Given the description of an element on the screen output the (x, y) to click on. 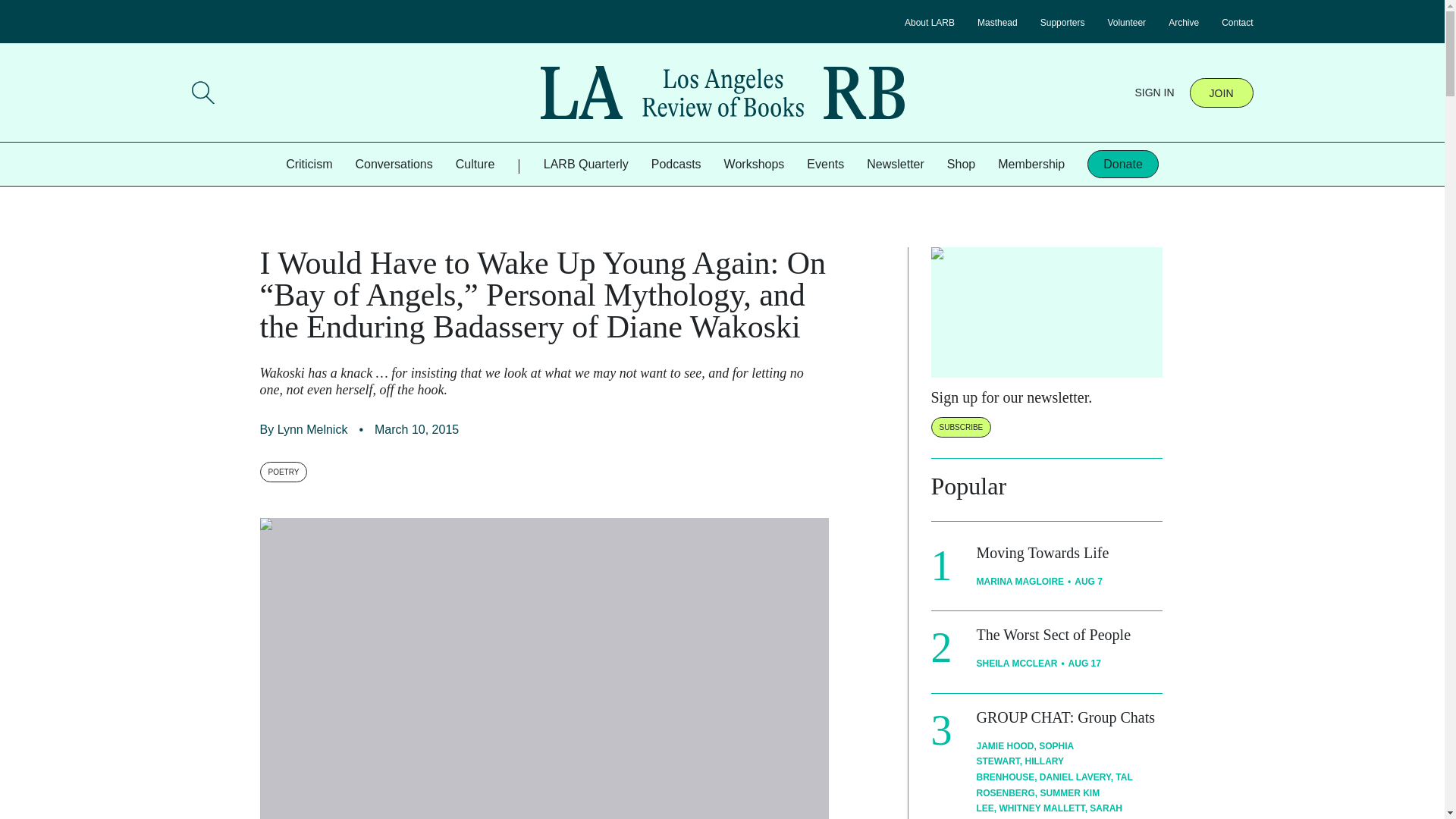
Newsletter (895, 163)
Masthead (996, 22)
Volunteer (1125, 22)
SIGN IN (1153, 92)
Shop (961, 163)
About LARB (929, 22)
POETRY (283, 471)
Criticism (308, 163)
JOIN (1221, 91)
Archive (1183, 22)
